Given the description of an element on the screen output the (x, y) to click on. 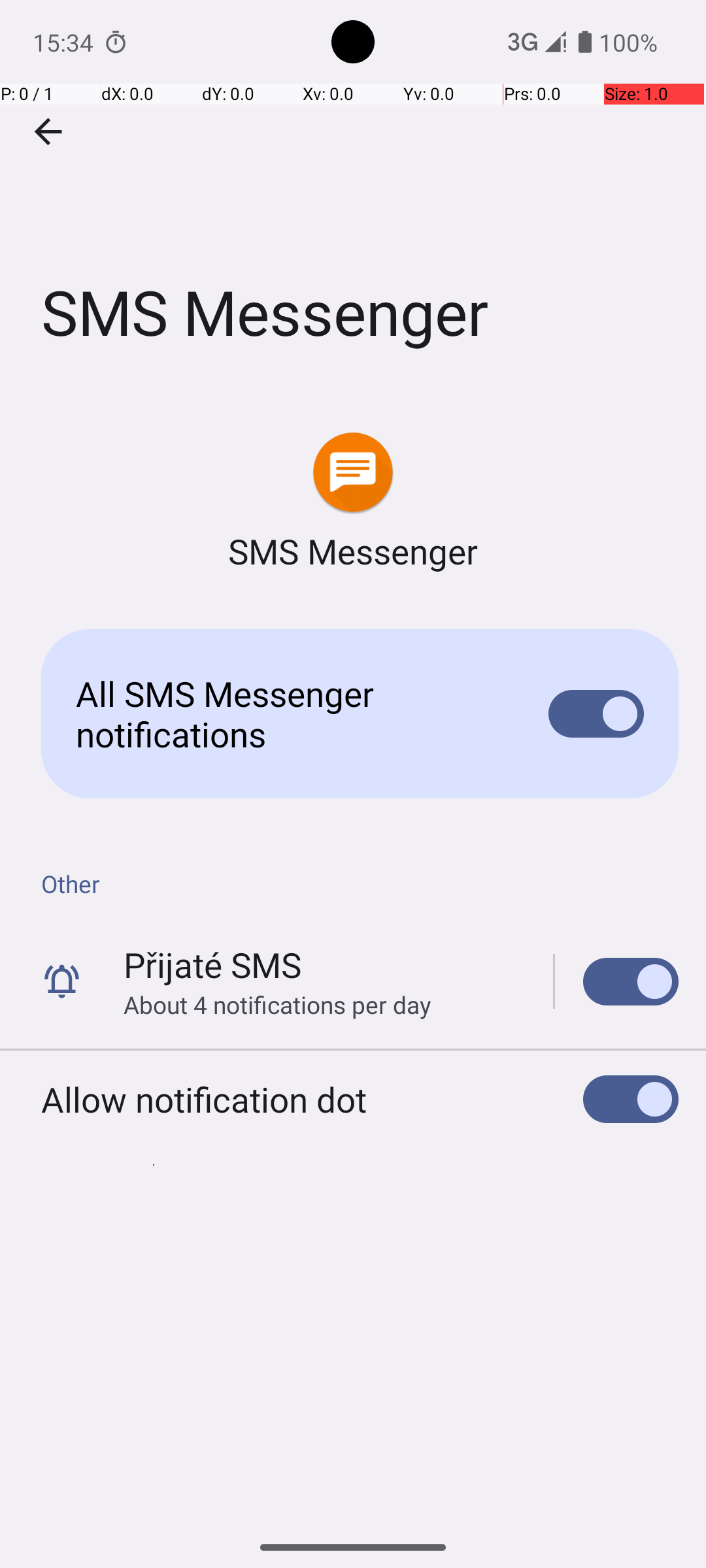
All SMS Messenger notifications Element type: android.widget.TextView (291, 713)
Přijaté SMS Element type: android.widget.TextView (212, 964)
About 4 notifications per day Element type: android.widget.TextView (277, 1004)
